Given the description of an element on the screen output the (x, y) to click on. 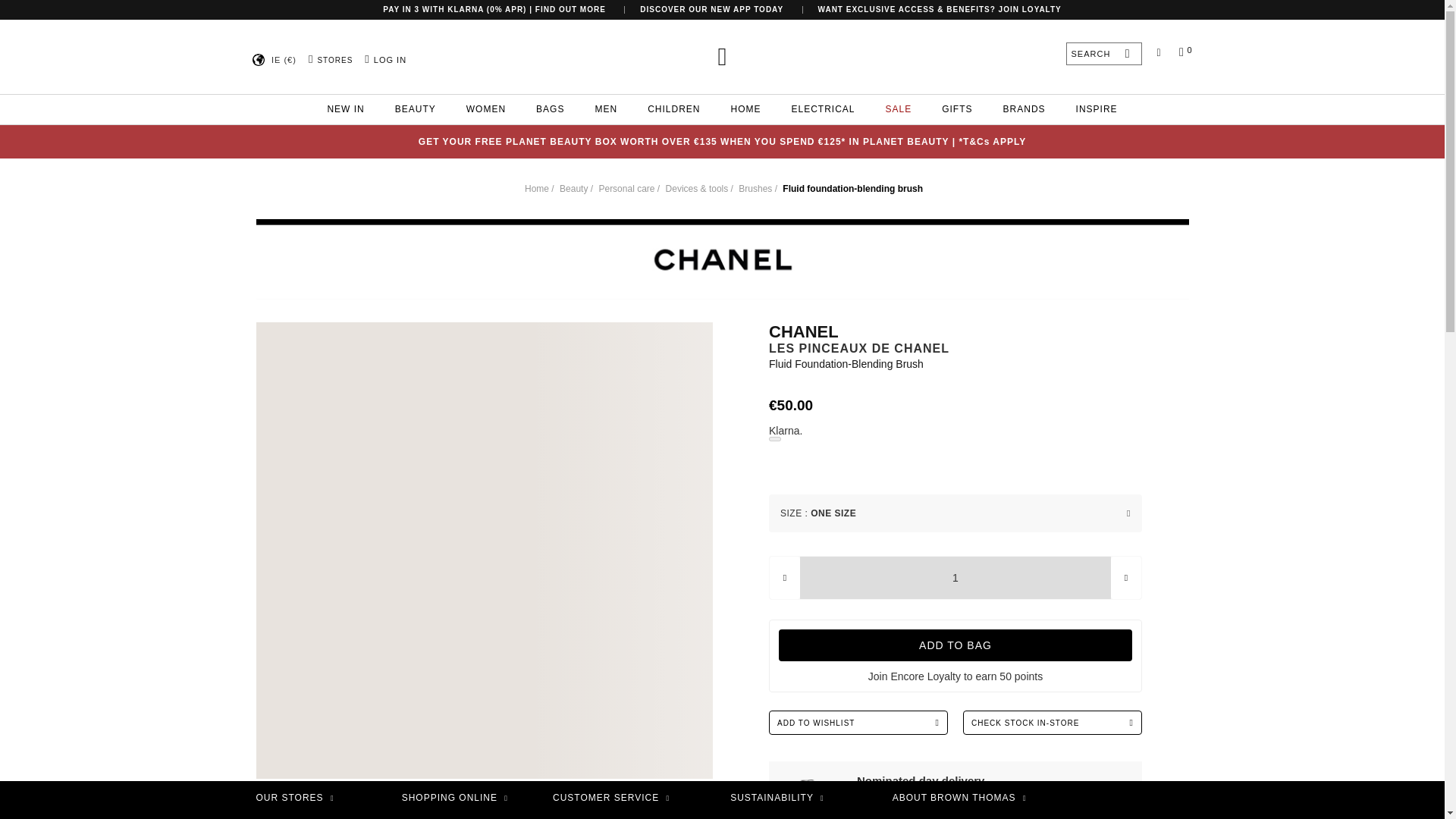
NEW IN (344, 109)
STORES (332, 60)
1 (954, 577)
DISCOVER OUR NEW APP TODAY (711, 8)
BEAUTY (415, 109)
